Given the description of an element on the screen output the (x, y) to click on. 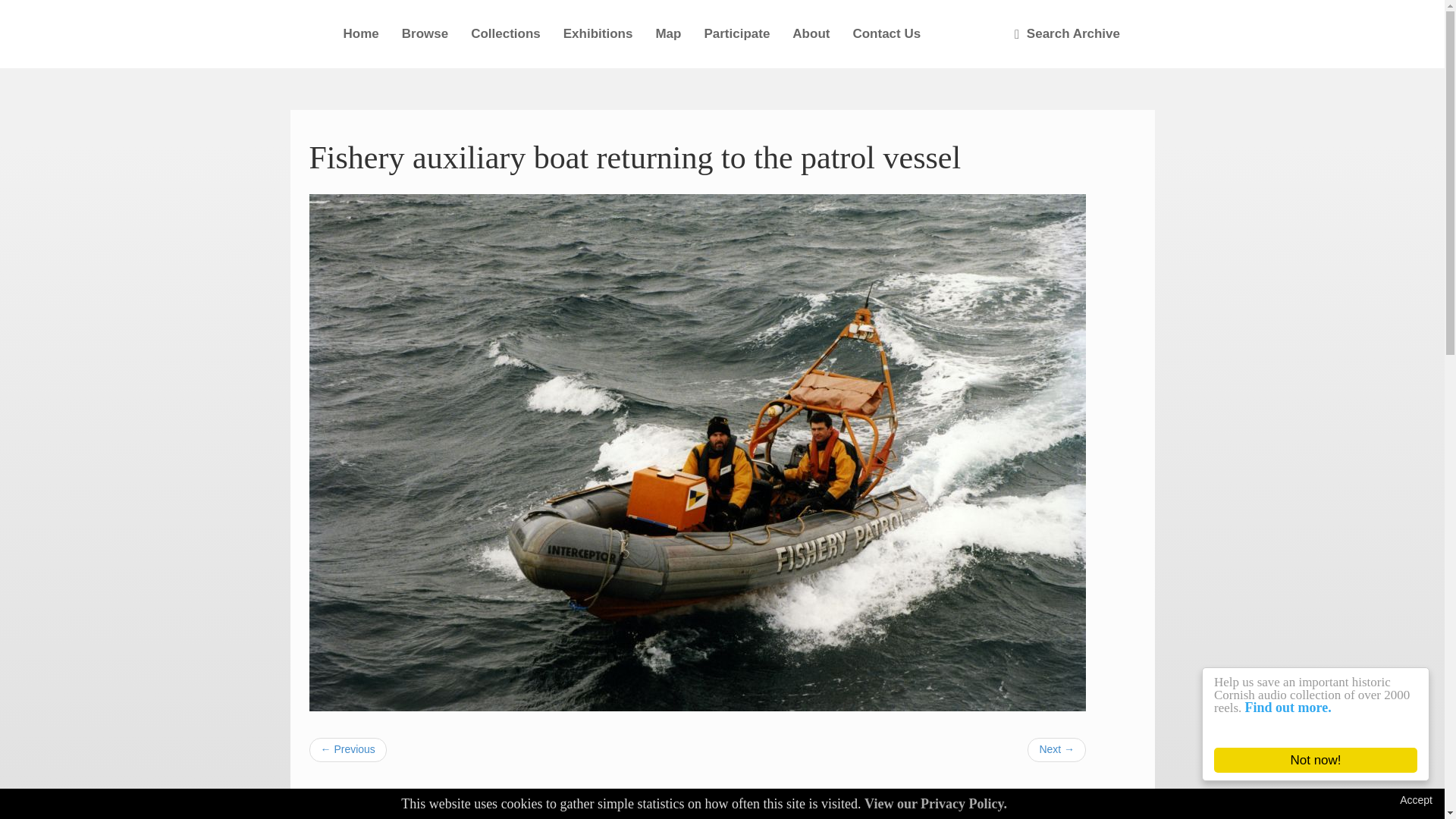
Map (668, 33)
Find out more. (1300, 707)
Exhibitions (598, 33)
Search Archive (1067, 33)
About (810, 33)
Contact Us (886, 33)
Home (360, 33)
Collections (505, 33)
Participate (736, 33)
Browse (425, 33)
Not now! (1329, 760)
